Given the description of an element on the screen output the (x, y) to click on. 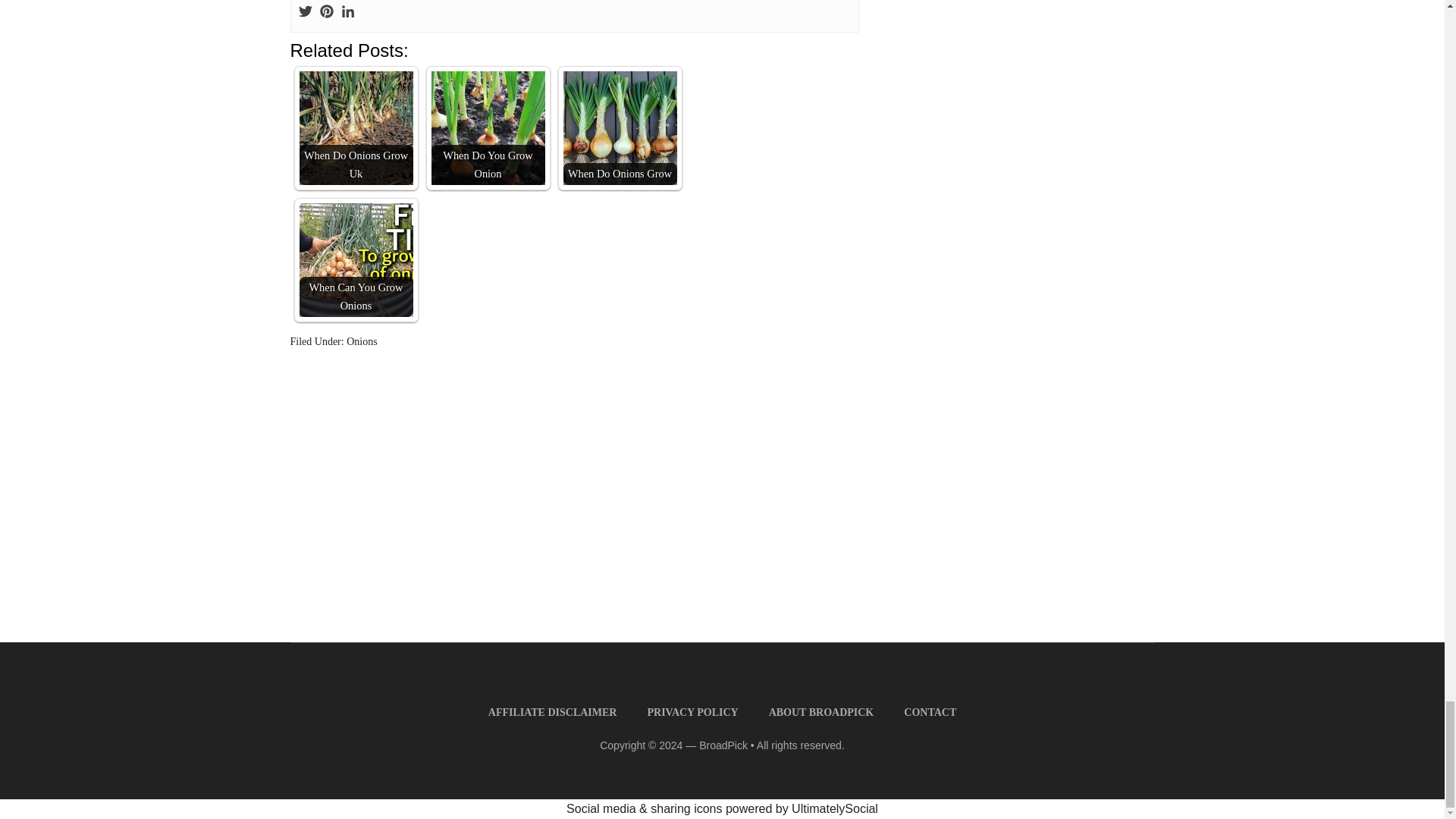
When Do Onions Grow (619, 128)
BroadPick (723, 745)
When Do You Grow Onion (487, 128)
When Can You Grow Onions (355, 259)
When Do Onions Grow Uk (355, 128)
